Given the description of an element on the screen output the (x, y) to click on. 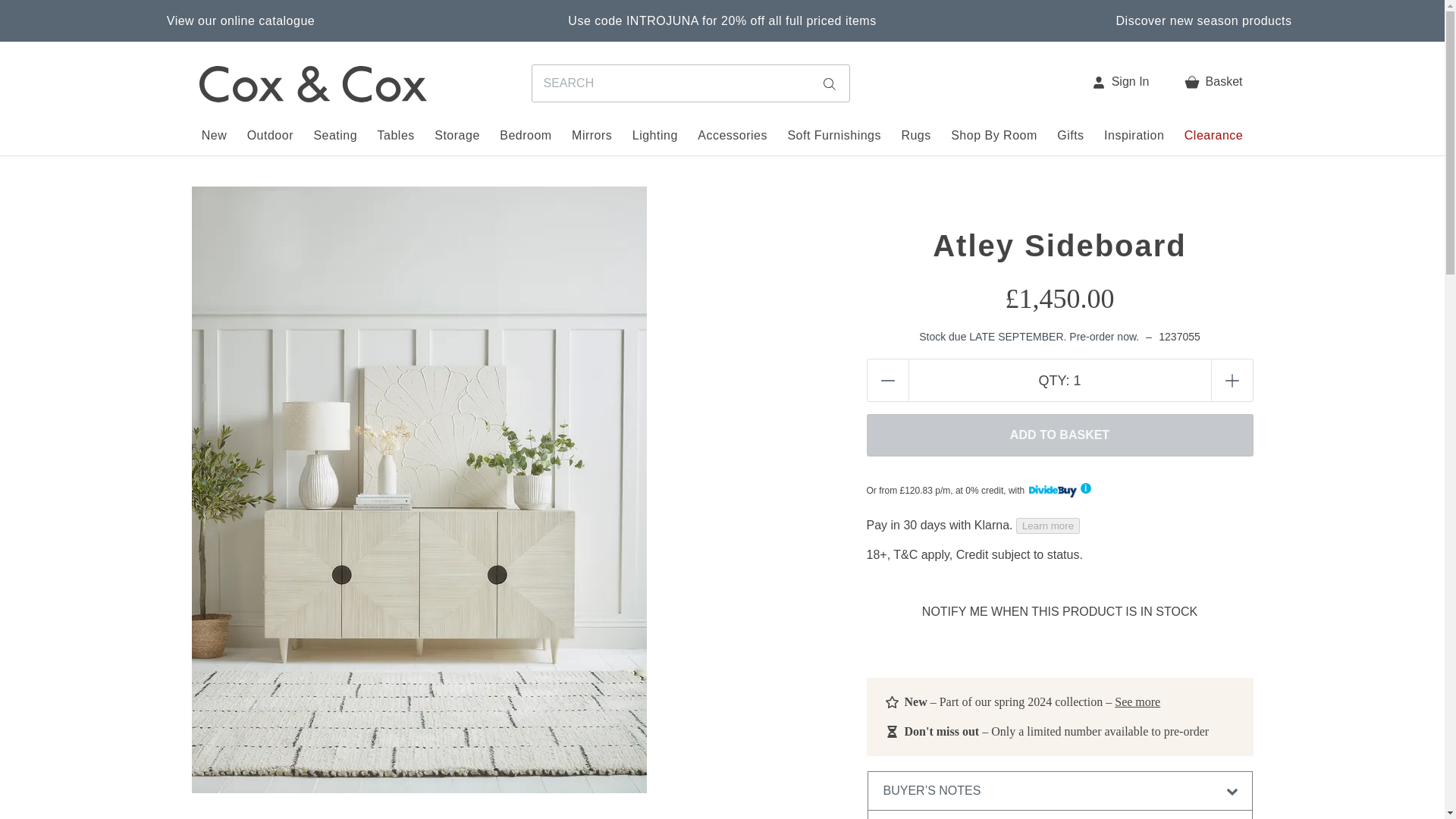
Outdoor (269, 136)
Discover new season products (1204, 20)
Sign In (1118, 84)
Basket (1212, 80)
Add to Basket (1059, 435)
View our online catalogue (240, 20)
Availability (1037, 336)
New (213, 136)
